Given the description of an element on the screen output the (x, y) to click on. 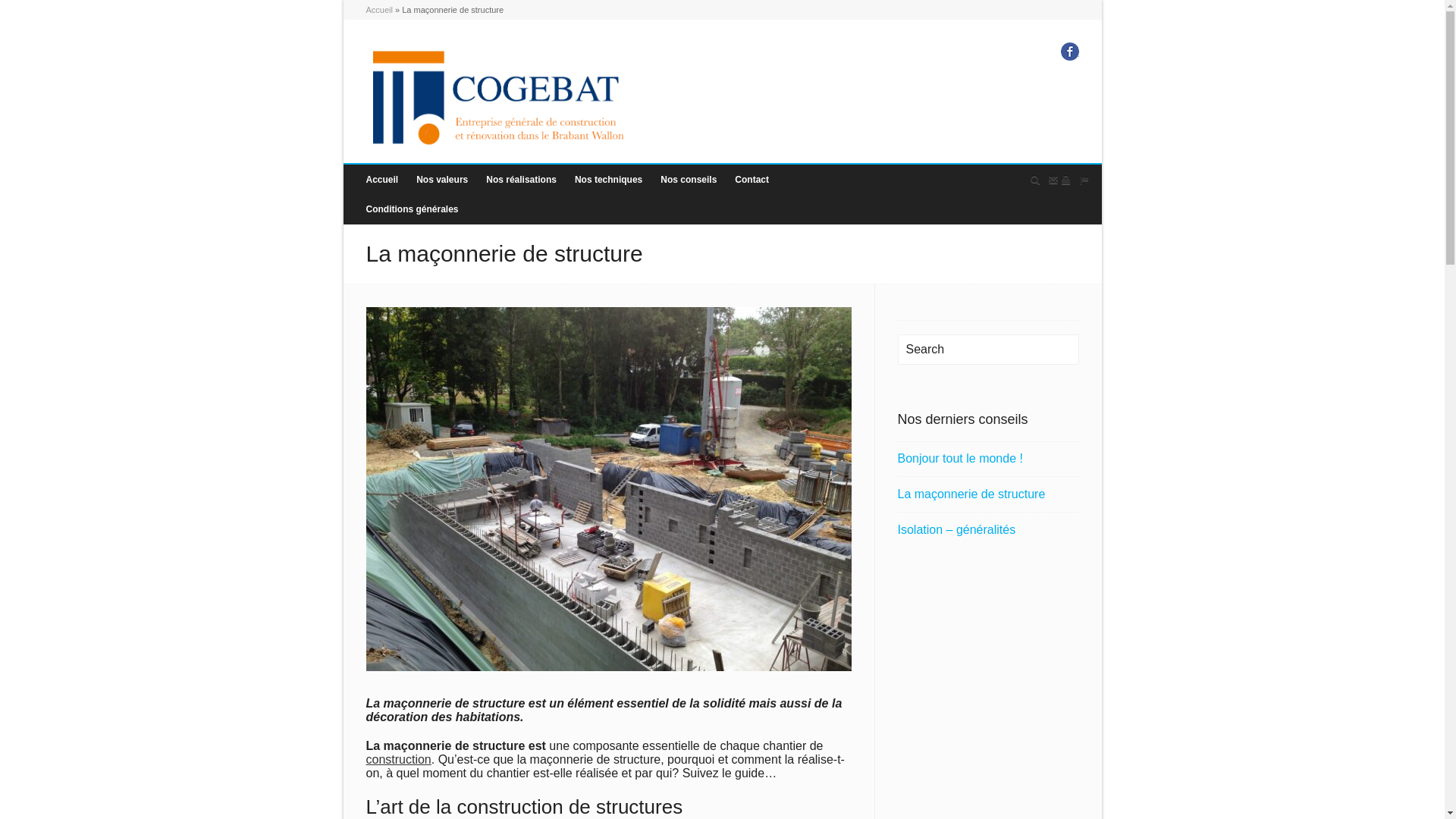
Nos techniques Element type: text (608, 179)
Accueil Element type: text (381, 179)
Search Element type: text (988, 349)
Nos valeurs Element type: text (441, 179)
Bonjour tout le monde ! Element type: text (988, 458)
Facebook Element type: text (1069, 51)
Accueil Element type: text (378, 9)
construction Element type: text (397, 759)
Contact Element type: text (751, 179)
Nos conseils Element type: text (688, 179)
